Given the description of an element on the screen output the (x, y) to click on. 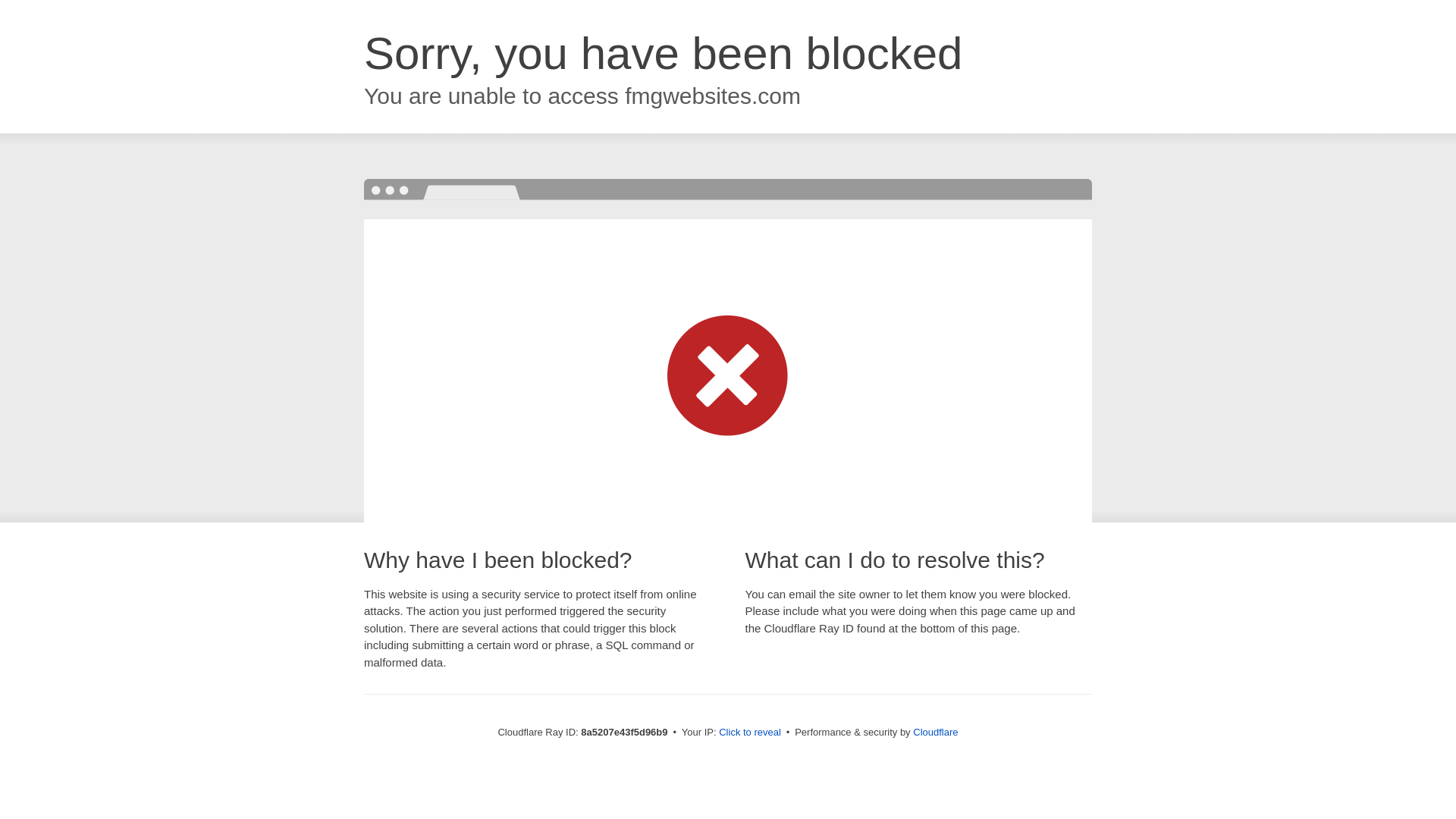
Click to reveal (749, 732)
Cloudflare (935, 731)
